Given the description of an element on the screen output the (x, y) to click on. 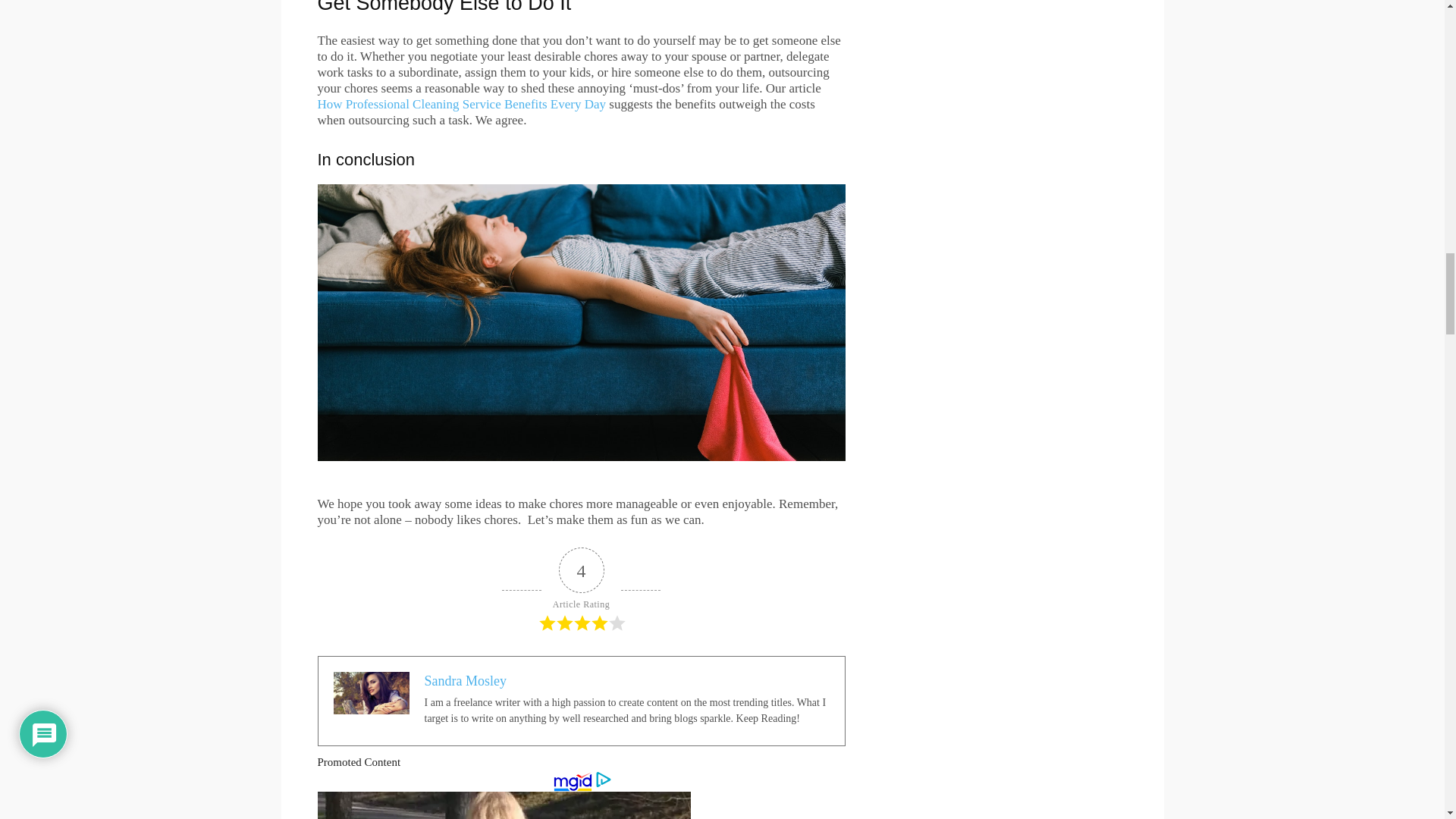
Sandra Mosley (465, 680)
How Professional Cleaning Service Benefits Every Day (461, 104)
